Given the description of an element on the screen output the (x, y) to click on. 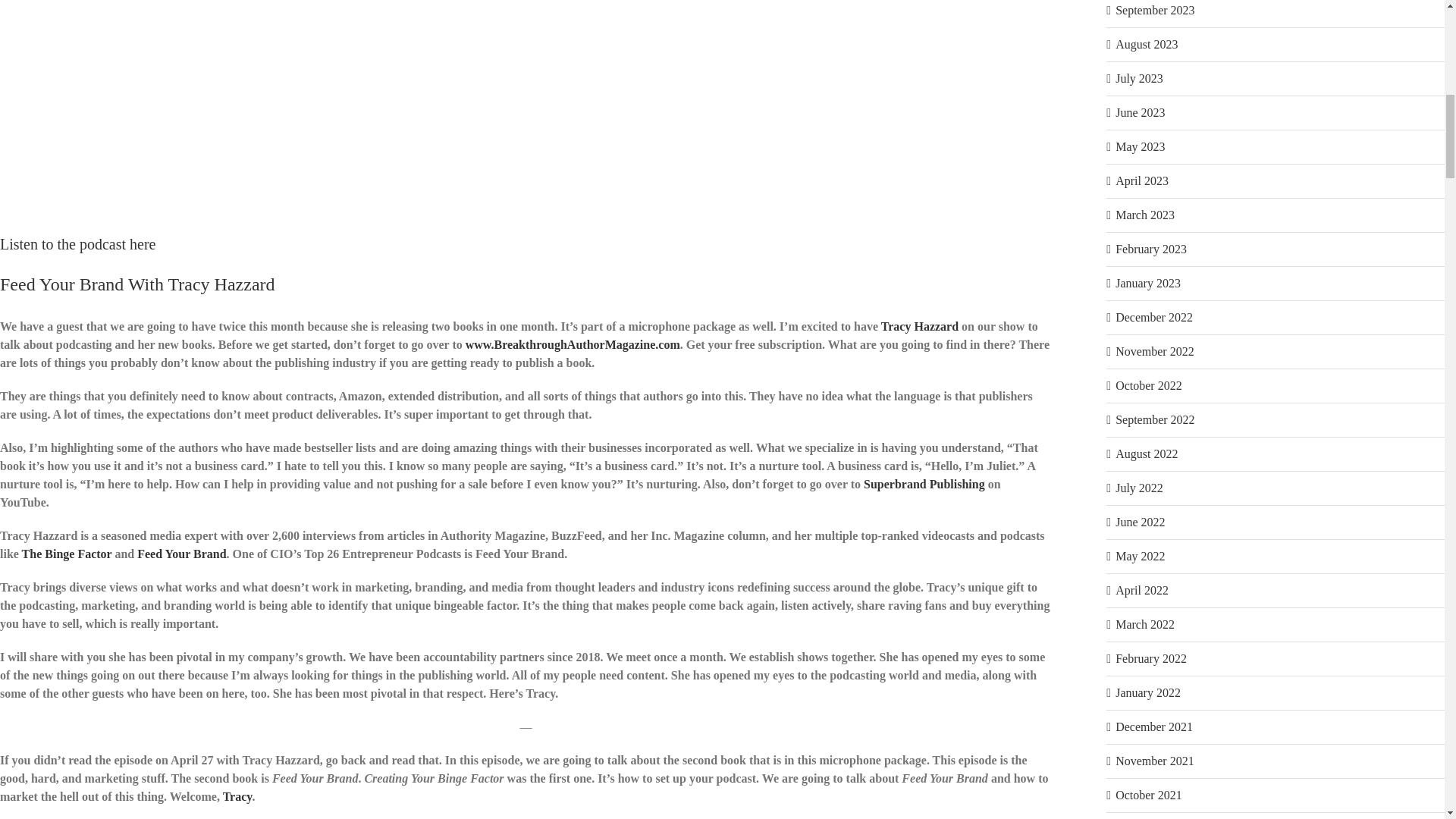
Feed Your Brand (180, 553)
Tracy Hazzard (919, 326)
Superbrand Publishing (924, 483)
The Binge Factor (66, 553)
Tracy (236, 796)
www.BreakthroughAuthorMagazine.com (572, 344)
